Given the description of an element on the screen output the (x, y) to click on. 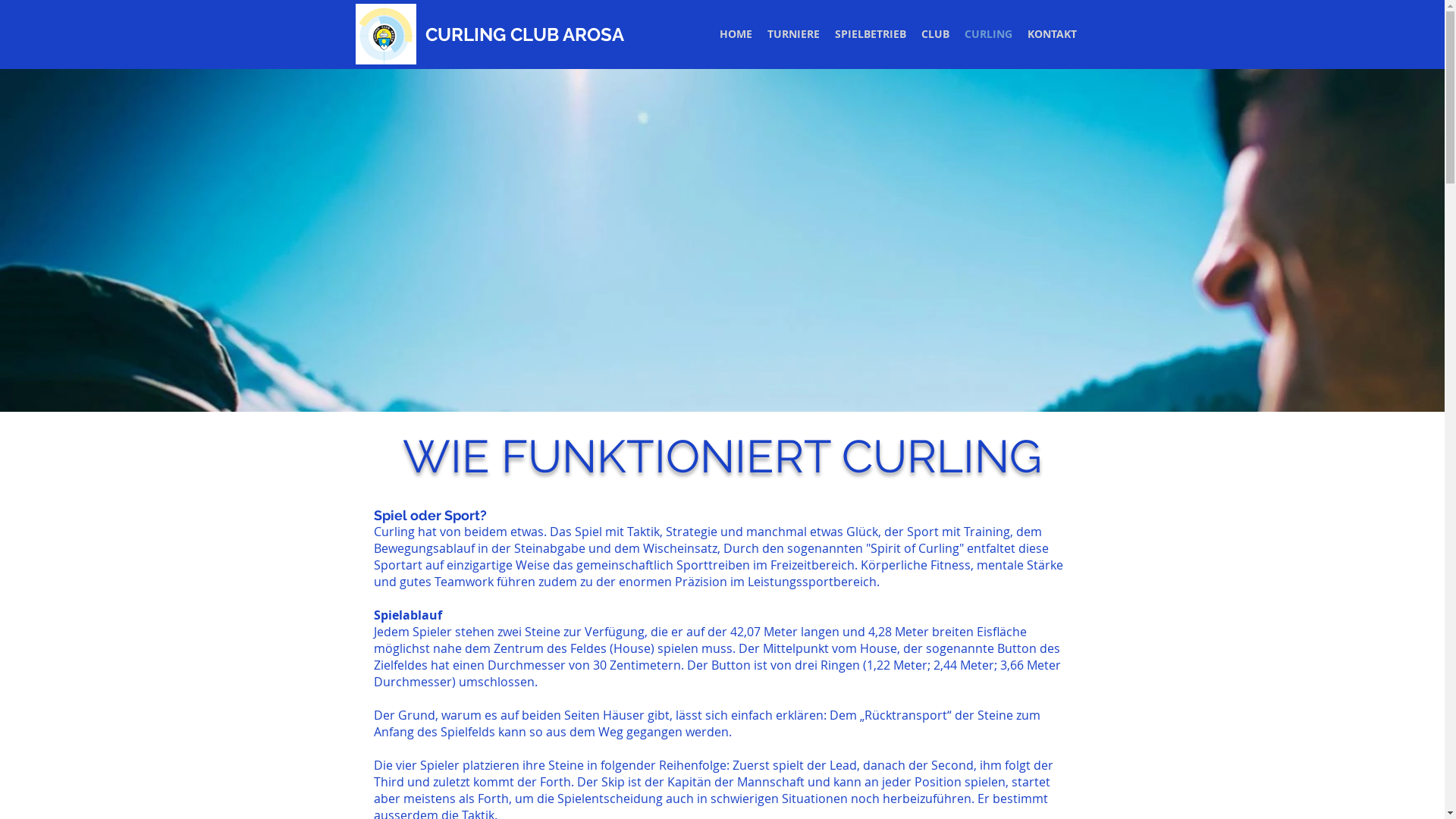
CURLING Element type: text (988, 34)
HOME Element type: text (735, 34)
SPIELBETRIEB Element type: text (869, 34)
CURLING CLUB AROSA Element type: text (523, 34)
CLUB Element type: text (934, 34)
CCArosa Logo1758x1758.png Element type: hover (384, 33)
KONTAKT Element type: text (1051, 34)
TURNIERE Element type: text (793, 34)
